Given the description of an element on the screen output the (x, y) to click on. 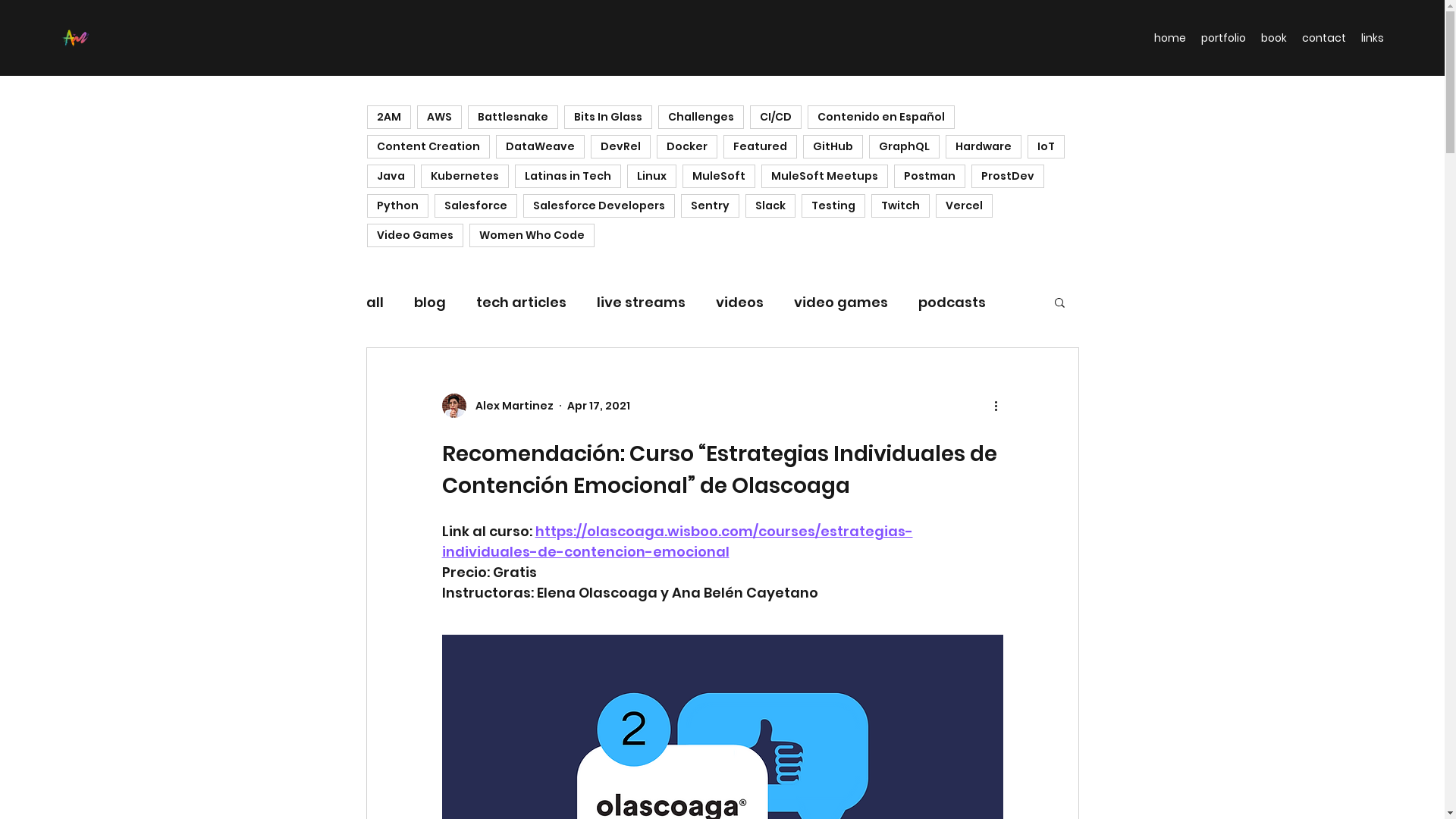
video games Element type: text (840, 301)
videos Element type: text (739, 301)
Vercel Element type: text (963, 205)
live streams Element type: text (640, 301)
Salesforce Element type: text (474, 205)
DevRel Element type: text (619, 146)
Women Who Code Element type: text (530, 235)
Twitch Element type: text (899, 205)
CI/CD Element type: text (774, 116)
Latinas in Tech Element type: text (567, 176)
GitHub Element type: text (832, 146)
MuleSoft Meetups Element type: text (824, 176)
2AM Element type: text (389, 116)
links Element type: text (1372, 37)
Salesforce Developers Element type: text (598, 205)
Hardware Element type: text (982, 146)
Featured Element type: text (760, 146)
Linux Element type: text (650, 176)
Battlesnake Element type: text (512, 116)
podcasts Element type: text (951, 301)
MuleSoft Element type: text (718, 176)
DataWeave Element type: text (539, 146)
portfolio Element type: text (1223, 37)
AWS Element type: text (439, 116)
ProstDev Element type: text (1006, 176)
Bits In Glass Element type: text (608, 116)
Video Games Element type: text (415, 235)
Postman Element type: text (928, 176)
Java Element type: text (390, 176)
Docker Element type: text (686, 146)
GraphQL Element type: text (904, 146)
blog Element type: text (429, 301)
book Element type: text (1273, 37)
IoT Element type: text (1044, 146)
contact Element type: text (1323, 37)
Python Element type: text (397, 205)
all Element type: text (373, 301)
home Element type: text (1169, 37)
tech articles Element type: text (521, 301)
Challenges Element type: text (700, 116)
Sentry Element type: text (709, 205)
Slack Element type: text (769, 205)
Kubernetes Element type: text (464, 176)
Content Creation Element type: text (428, 146)
Testing Element type: text (832, 205)
